Given the description of an element on the screen output the (x, y) to click on. 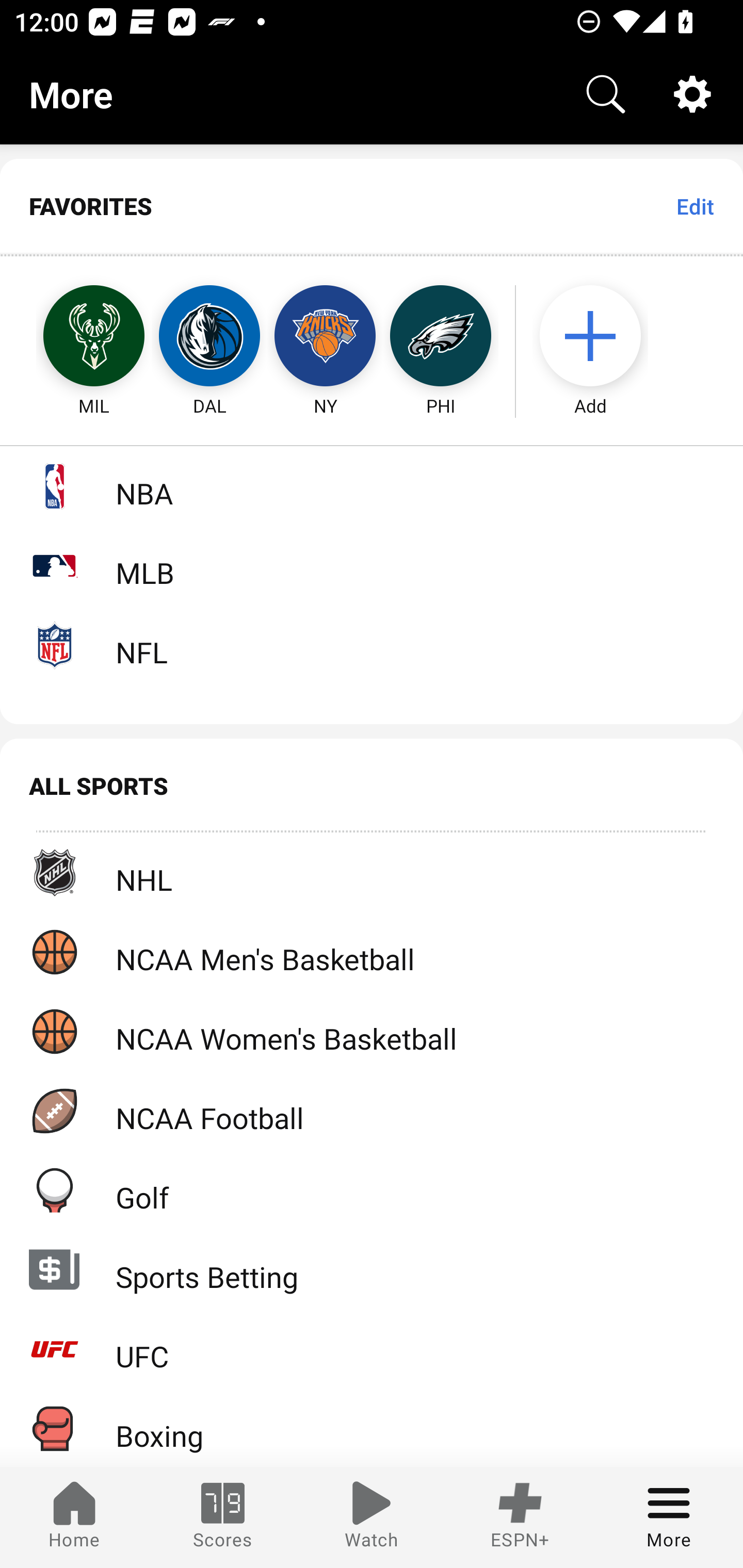
Search (605, 93)
Settings (692, 93)
Edit (695, 205)
MIL Milwaukee Bucks (75, 336)
DAL Dallas Mavericks (209, 336)
NY New York Knicks (324, 336)
PHI Philadelphia Eagles (440, 336)
 Add (599, 336)
NBA (371, 485)
MLB (371, 565)
NFL (371, 645)
NHL (371, 872)
NCAA Men's Basketball (371, 951)
NCAA Women's Basketball (371, 1030)
NCAA Football (371, 1110)
Golf (371, 1189)
Sports Betting (371, 1269)
UFC (371, 1349)
Boxing (371, 1428)
Home (74, 1517)
Scores (222, 1517)
Watch (371, 1517)
ESPN+ (519, 1517)
